Given the description of an element on the screen output the (x, y) to click on. 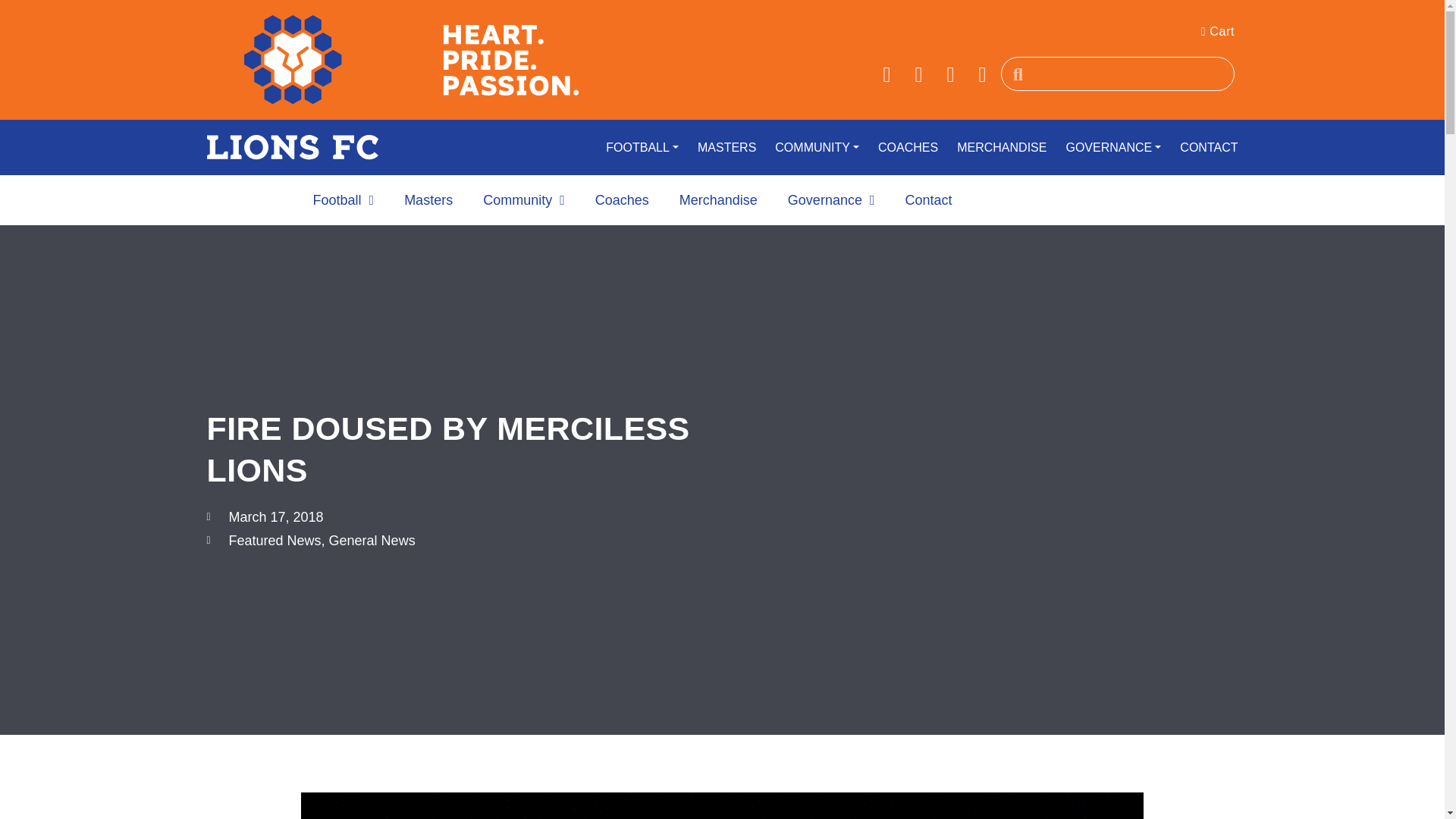
FOOTBALL (634, 147)
Cart (1217, 31)
